Given the description of an element on the screen output the (x, y) to click on. 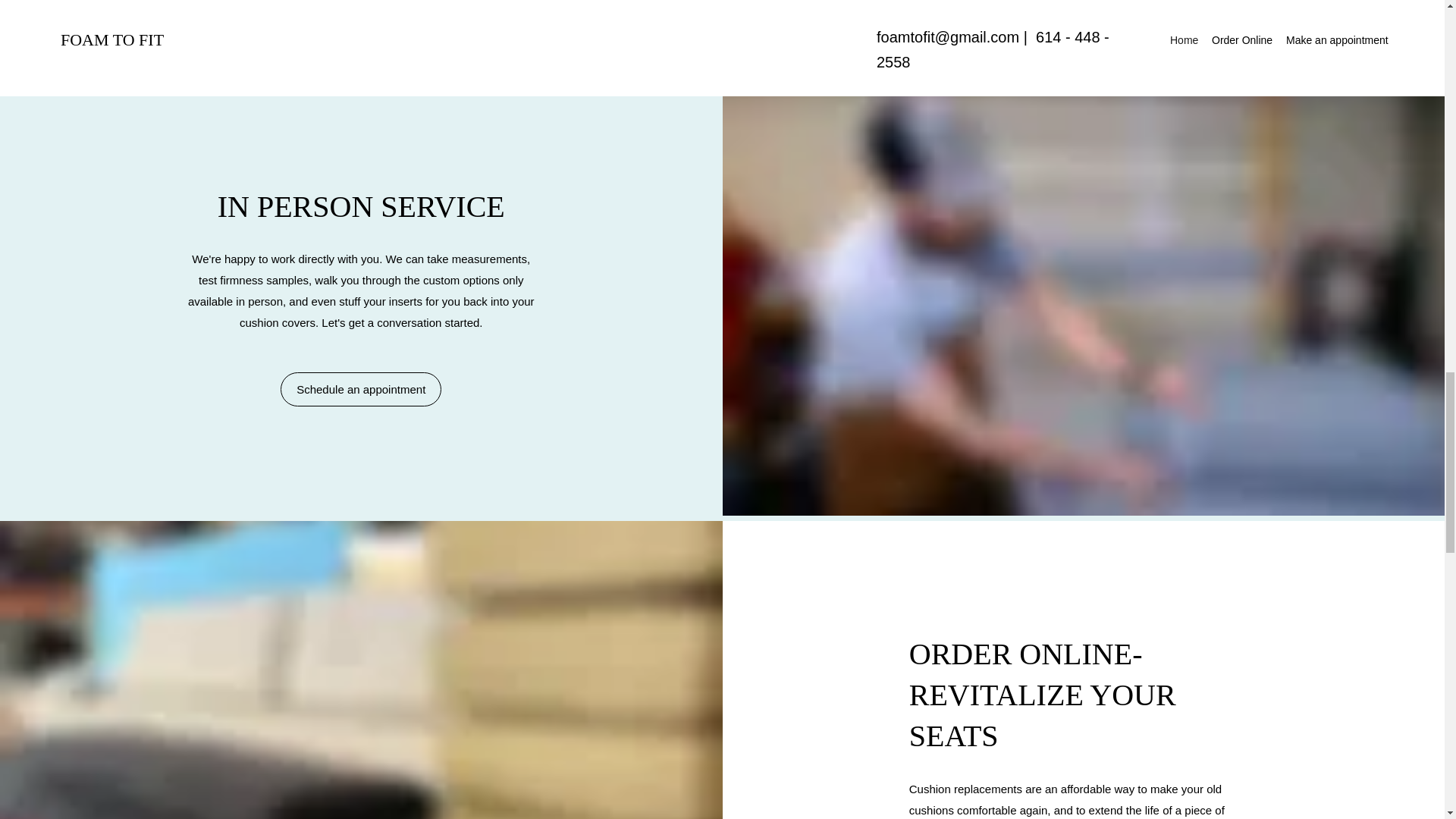
Schedule an appointment (361, 389)
